Given the description of an element on the screen output the (x, y) to click on. 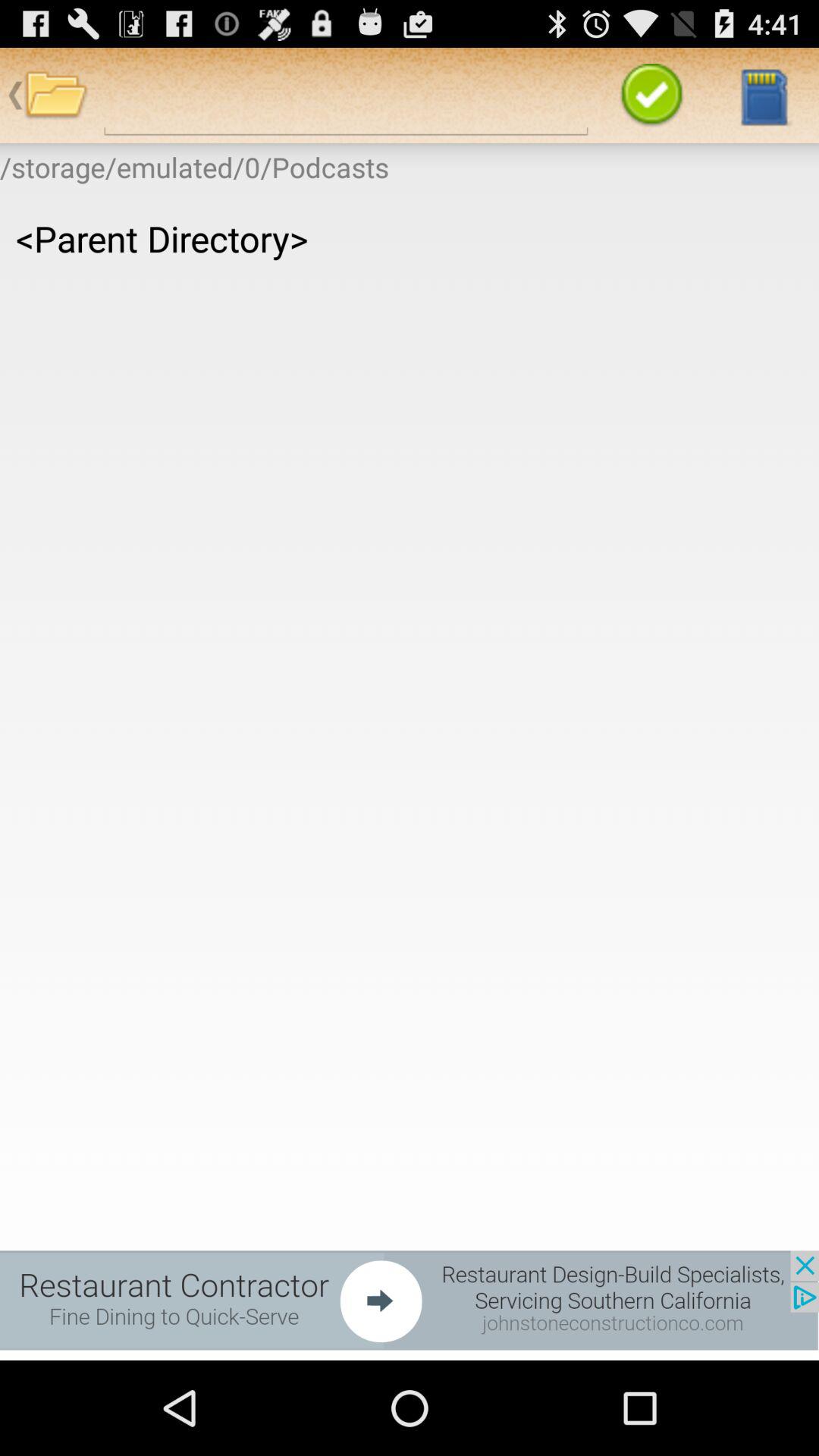
search (346, 95)
